Given the description of an element on the screen output the (x, y) to click on. 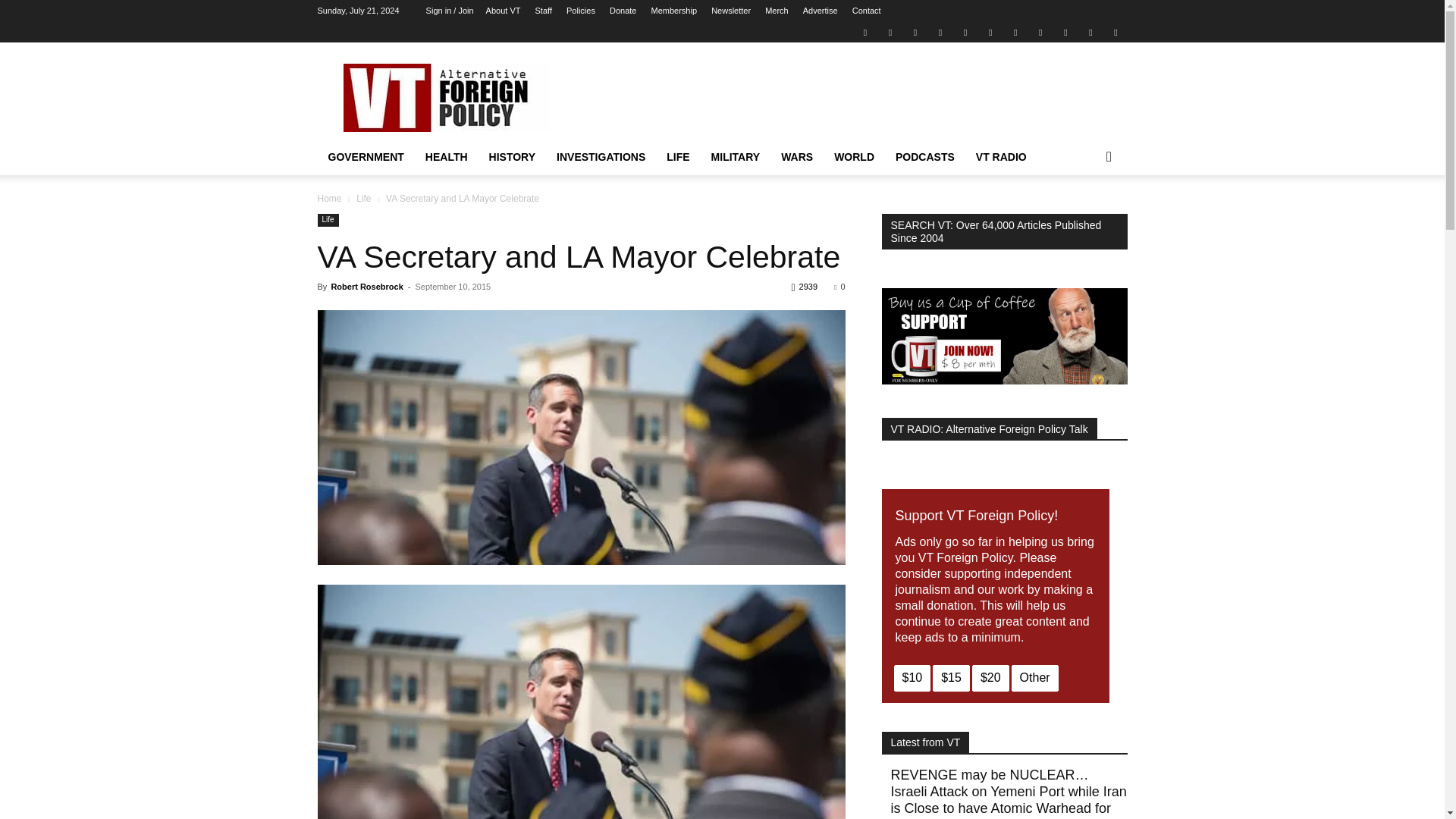
Donate (623, 10)
Policies (580, 10)
Rumble (964, 31)
Contact (865, 10)
Facebook (890, 31)
Newsletter (731, 10)
Mail (915, 31)
Merch (777, 10)
Membership (673, 10)
Advertise (820, 10)
Staff (543, 10)
Reddit (940, 31)
About VT (503, 10)
Blogger (864, 31)
